Given the description of an element on the screen output the (x, y) to click on. 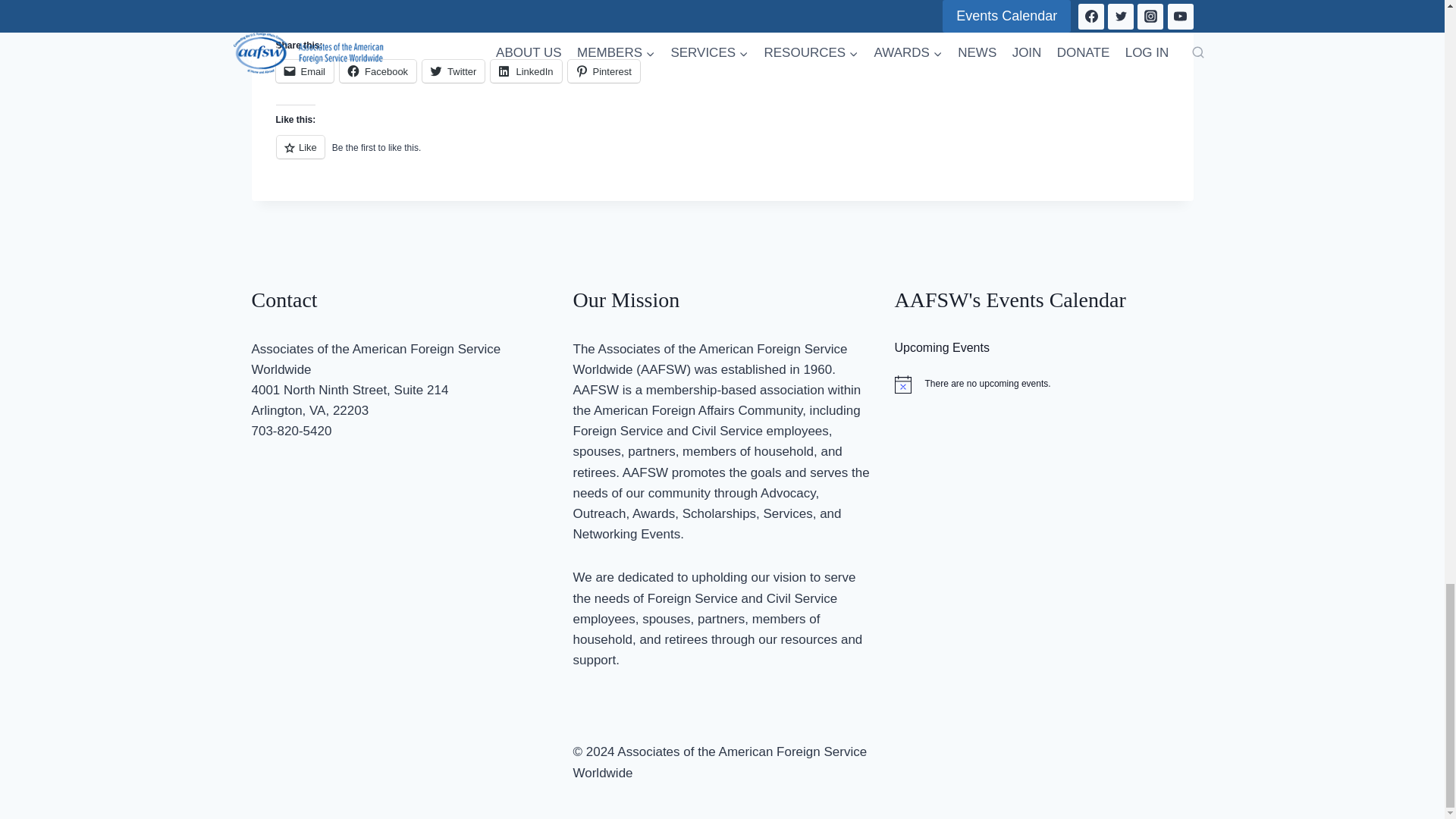
Like or Reblog (722, 155)
Click to share on Twitter (453, 70)
Click to share on Pinterest (603, 70)
Click to share on Facebook (377, 70)
Click to share on LinkedIn (525, 70)
Click to email a link to a friend (305, 70)
